Given the description of an element on the screen output the (x, y) to click on. 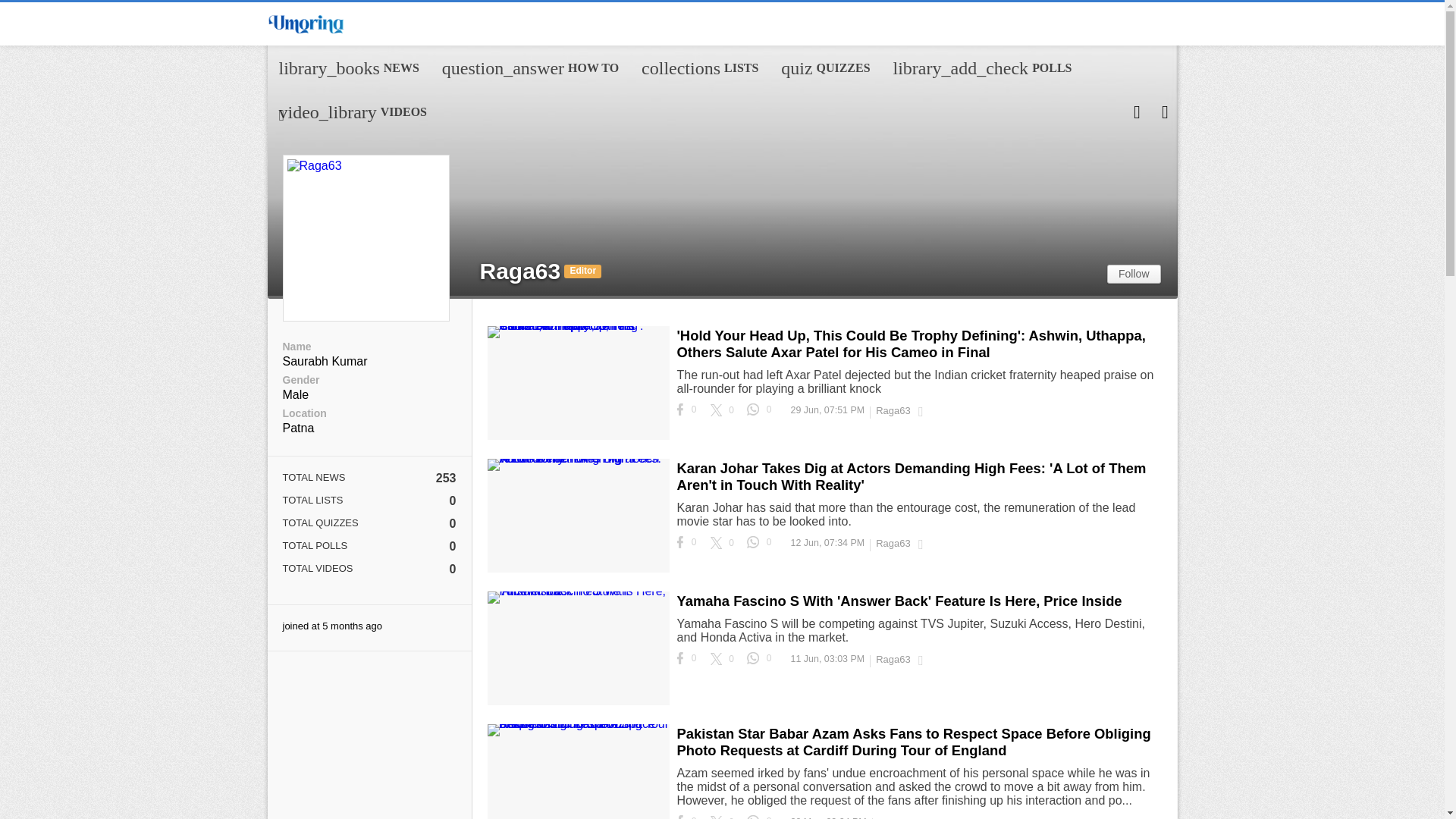
sign up (300, 213)
EW! (302, 214)
Log in (299, 213)
Raga63 (825, 67)
AWESOME! (519, 271)
Raga63 (303, 214)
Follow (700, 67)
